Given the description of an element on the screen output the (x, y) to click on. 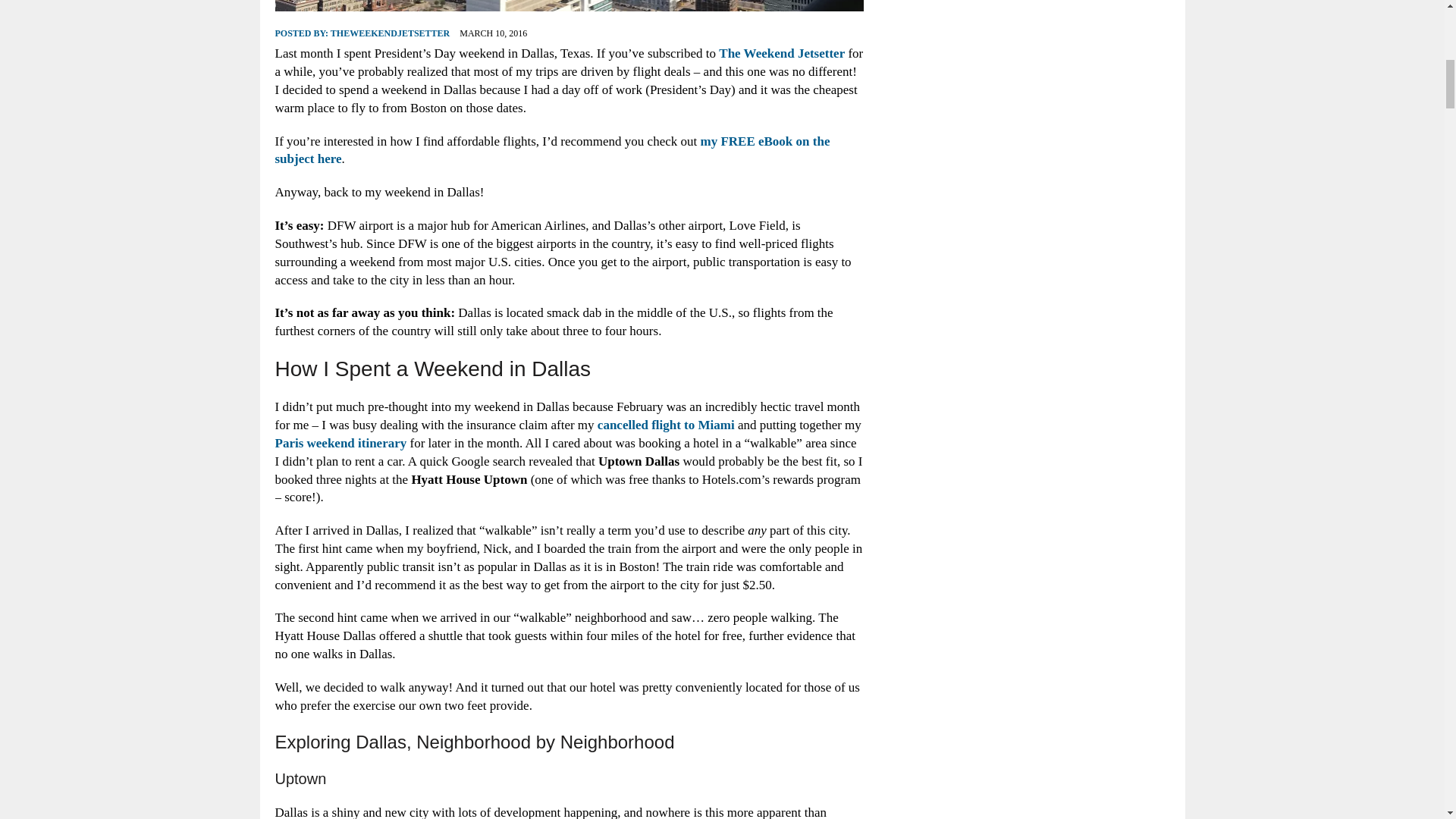
THEWEEKENDJETSETTER (389, 32)
The Weekend Jetsetter (781, 52)
my FREE eBook on the subject here (552, 150)
cancelled flight to Miami (665, 424)
Paris weekend itinerary (340, 442)
